Given the description of an element on the screen output the (x, y) to click on. 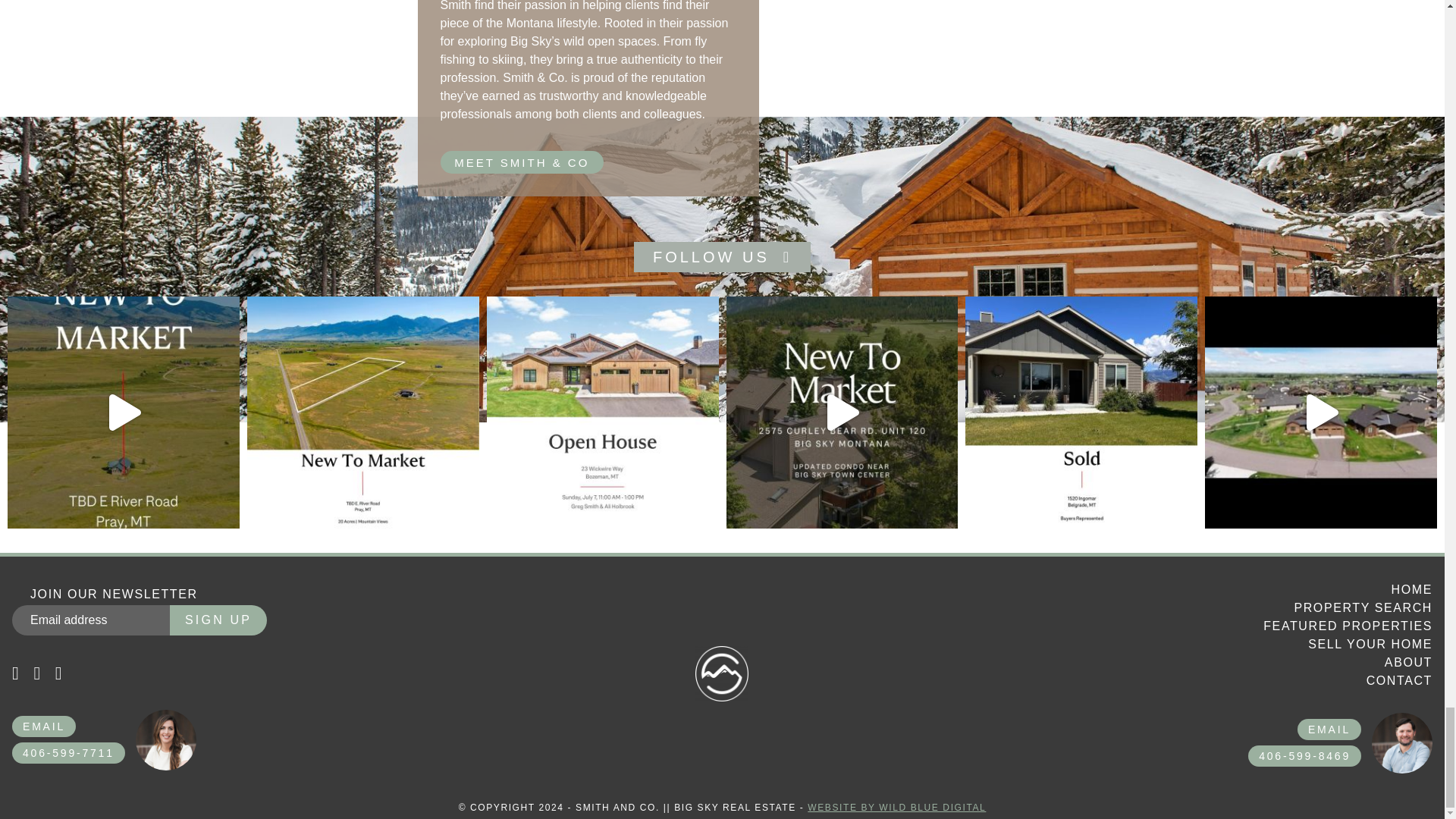
Sign up (218, 620)
